Given the description of an element on the screen output the (x, y) to click on. 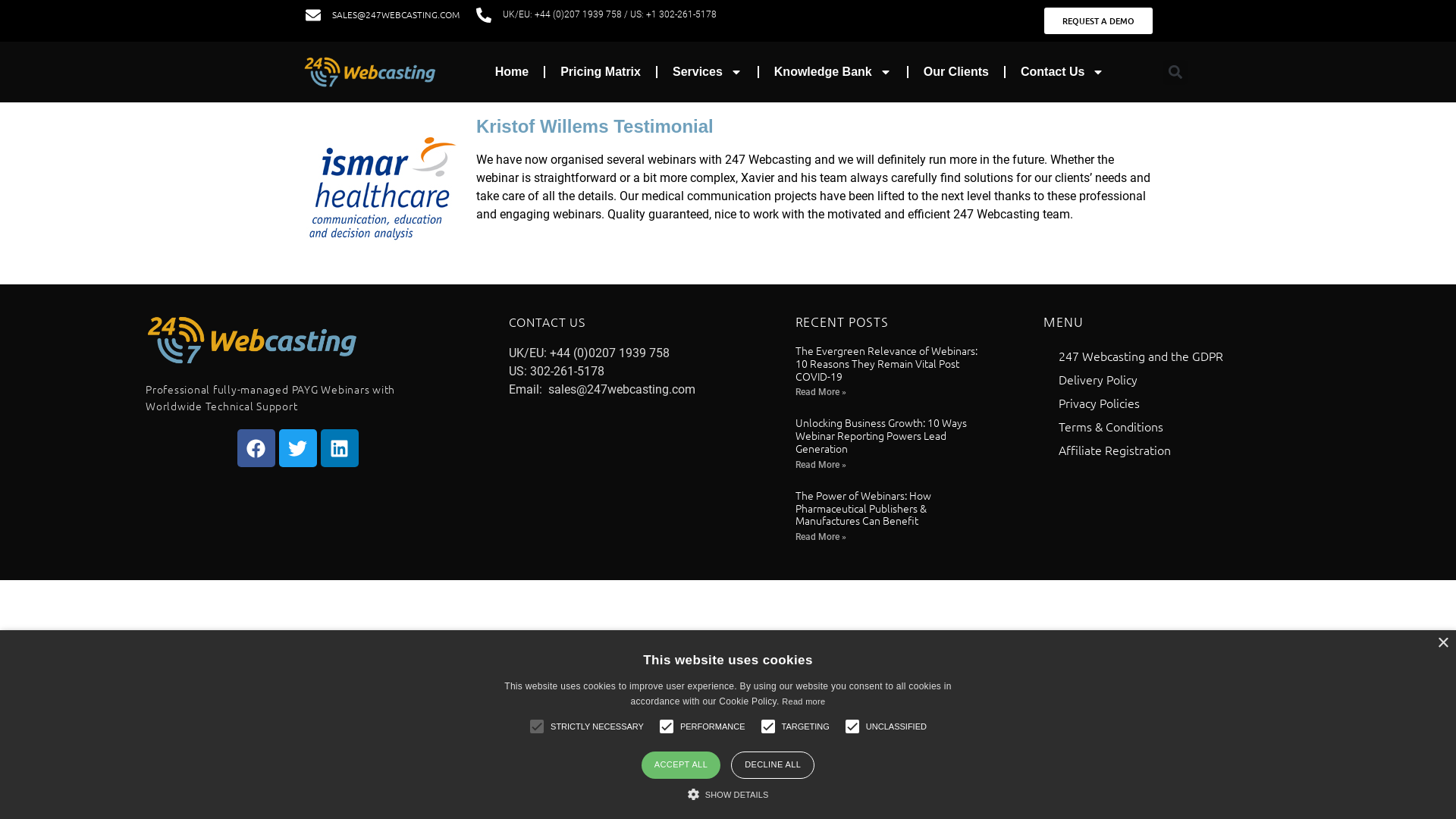
247 Webcasting and the GDPR Element type: text (1176, 355)
Privacy Policies Element type: text (1176, 402)
Affiliate Registration Element type: text (1176, 449)
Pricing Matrix Element type: text (600, 71)
REQUEST A DEMO Element type: text (1098, 20)
Terms & Conditions Element type: text (1176, 426)
Our Clients Element type: text (956, 71)
Knowledge Bank Element type: text (832, 71)
Contact Us Element type: text (1062, 71)
Services Element type: text (707, 71)
Home Element type: text (511, 71)
Read more Element type: text (803, 701)
Delivery Policy Element type: text (1176, 379)
